Given the description of an element on the screen output the (x, y) to click on. 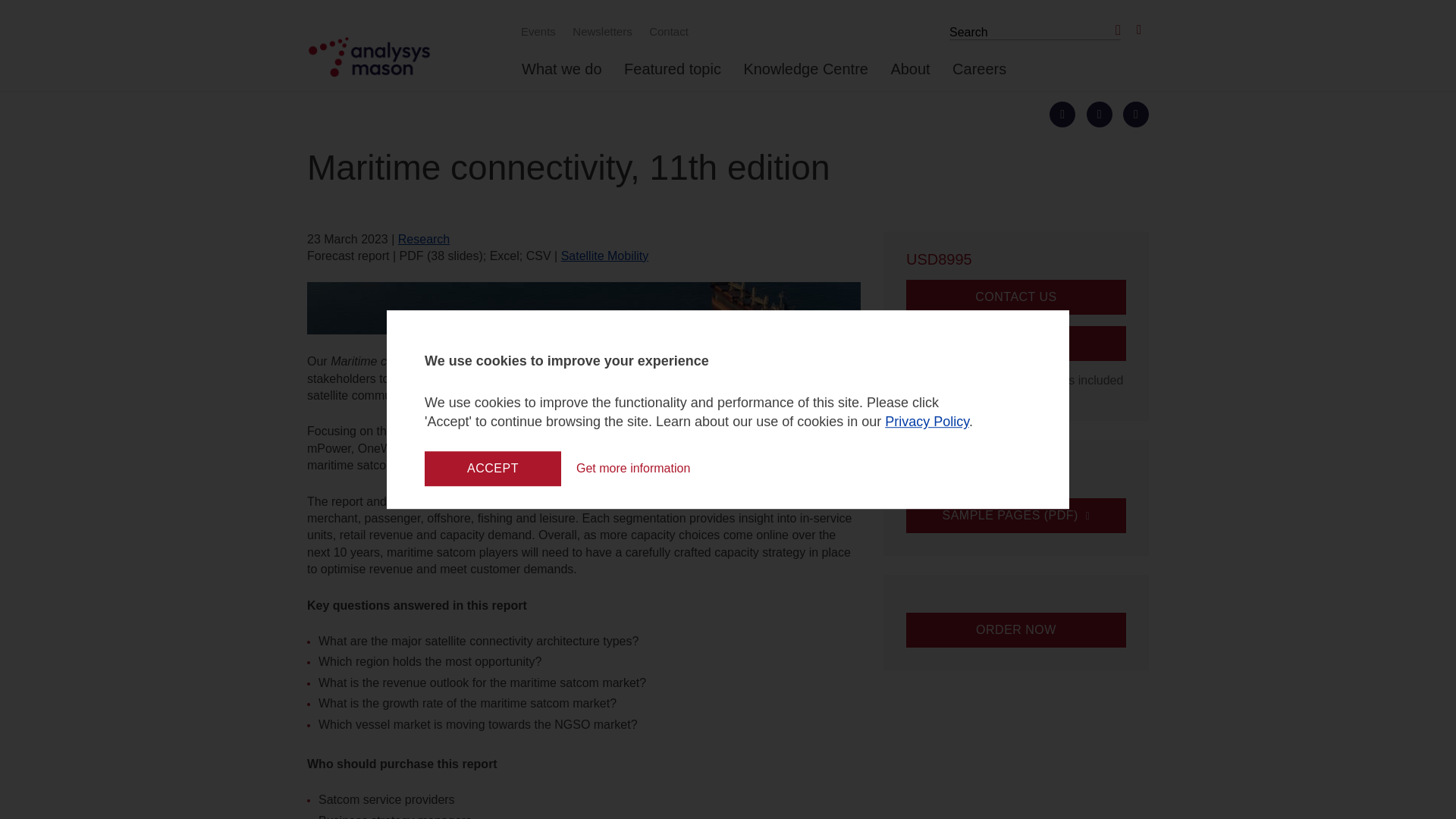
About (909, 75)
Privacy Policy (927, 421)
Featured topic (672, 75)
Knowledge Centre (805, 75)
Events (536, 31)
Careers (978, 75)
What we do (561, 75)
Newsletters (599, 31)
Contact (666, 31)
